Given the description of an element on the screen output the (x, y) to click on. 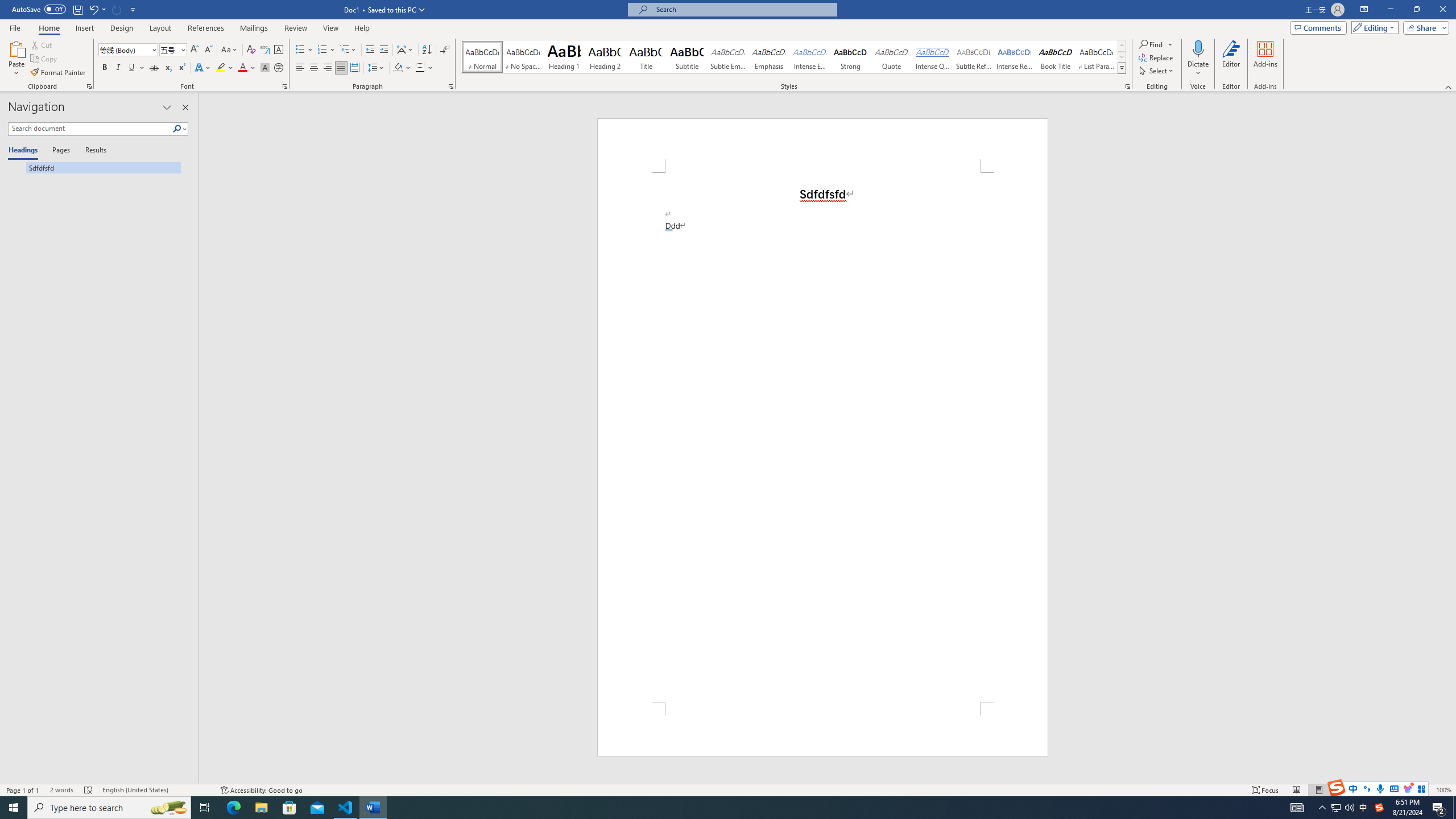
File Tab (15, 27)
Zoom 100% (1443, 790)
Sdfdfsfd (94, 167)
Page Number Page 1 of 1 (22, 790)
Intense Emphasis (809, 56)
Heading 2 (605, 56)
Align Right (327, 67)
References (205, 28)
Row up (1121, 45)
Shading RGB(0, 0, 0) (397, 67)
Bold (104, 67)
Headings (25, 150)
Print Layout (1318, 790)
Find (1151, 44)
Intense Reference (1014, 56)
